Given the description of an element on the screen output the (x, y) to click on. 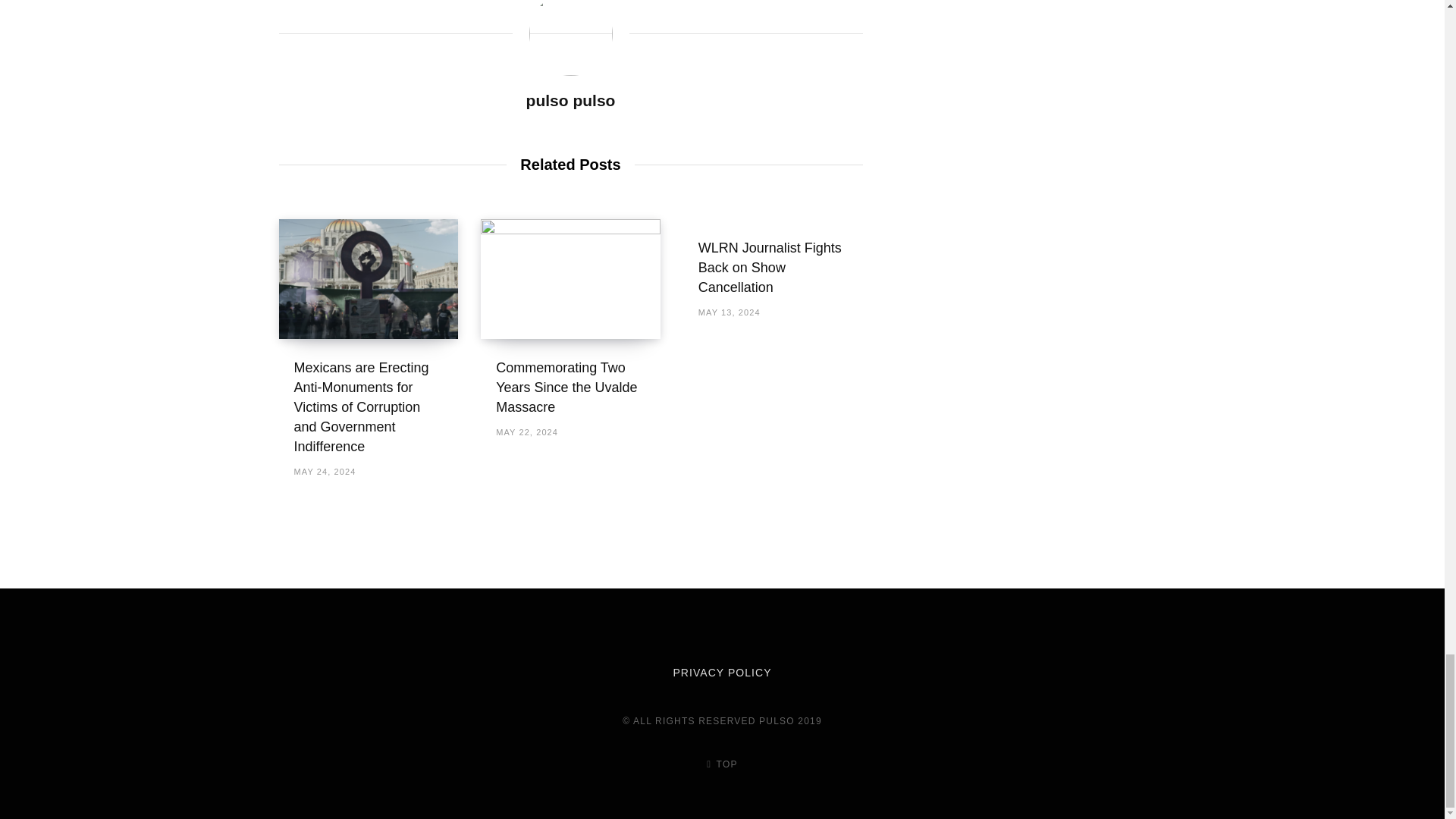
pulso pulso (570, 100)
Commemorating Two Years Since the Uvalde Massacre (566, 387)
WLRN Journalist Fights Back on Show Cancellation (769, 267)
Posts by pulso pulso (570, 100)
